Given the description of an element on the screen output the (x, y) to click on. 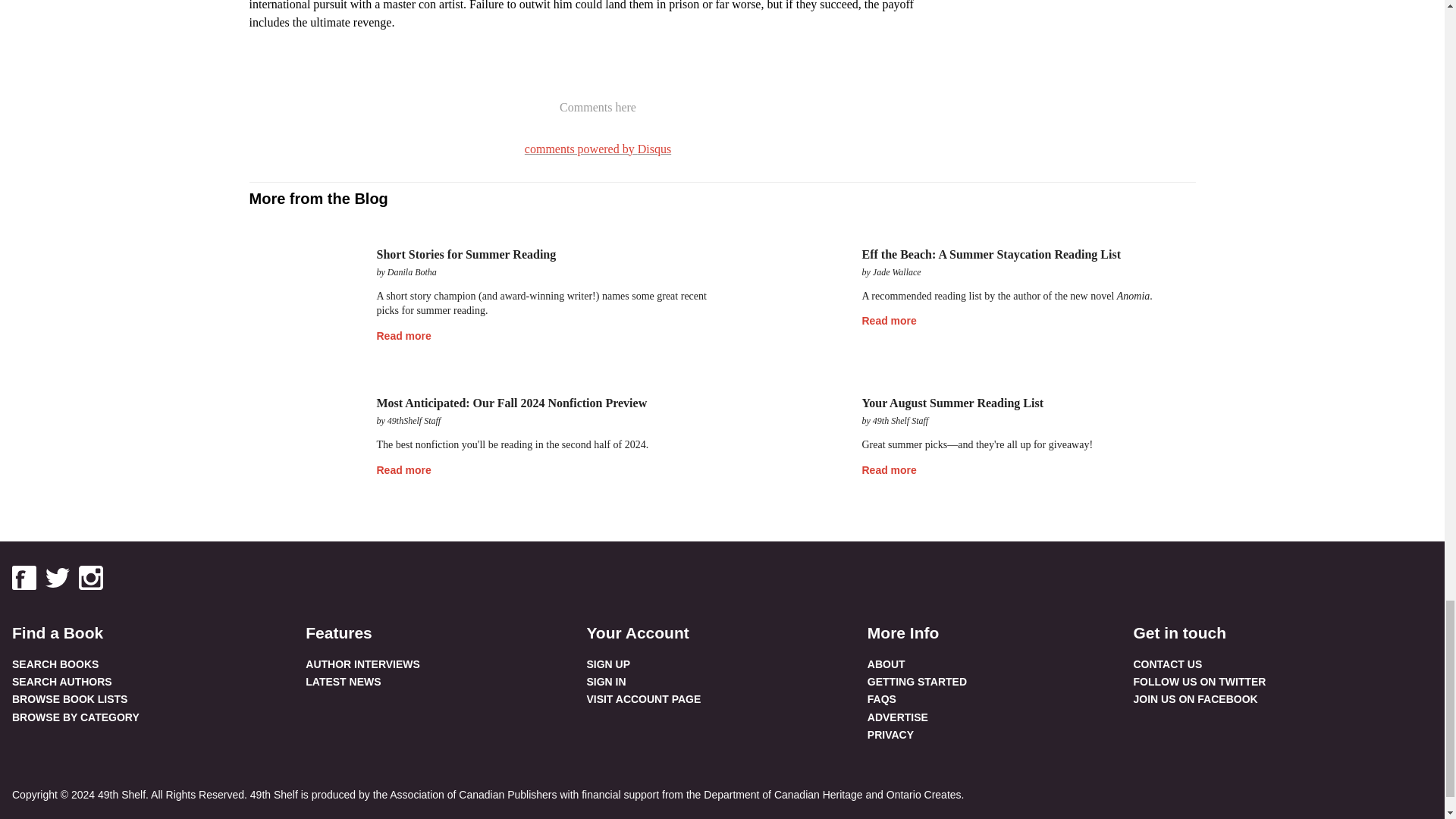
Visit us on Twitter (57, 577)
Visit us on Instagram (90, 577)
Visit us on Facebook (23, 577)
